Given the description of an element on the screen output the (x, y) to click on. 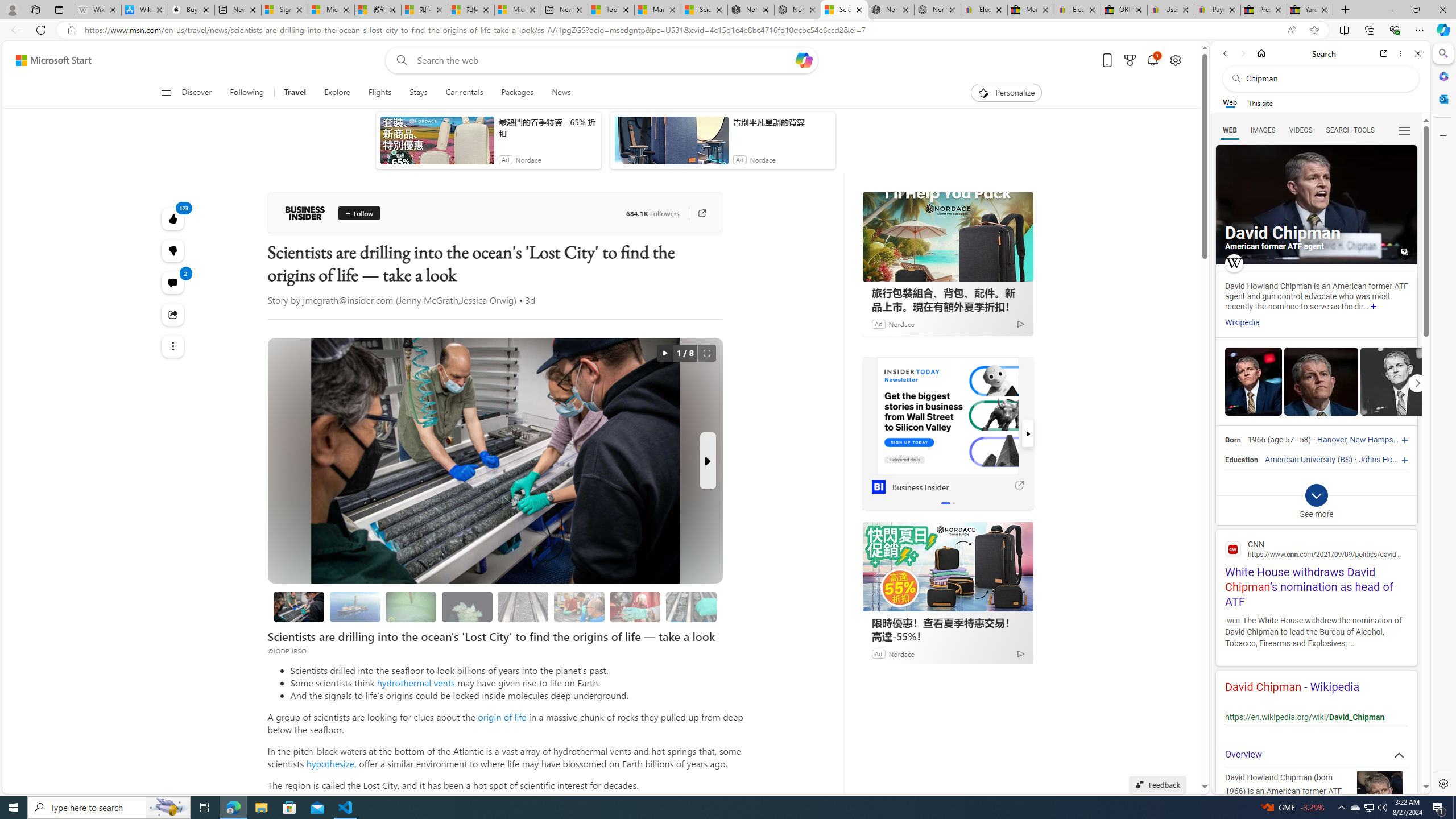
Follow (358, 213)
Packages (517, 92)
Researchers are still studying the samples (690, 606)
Explore (337, 92)
